Given the description of an element on the screen output the (x, y) to click on. 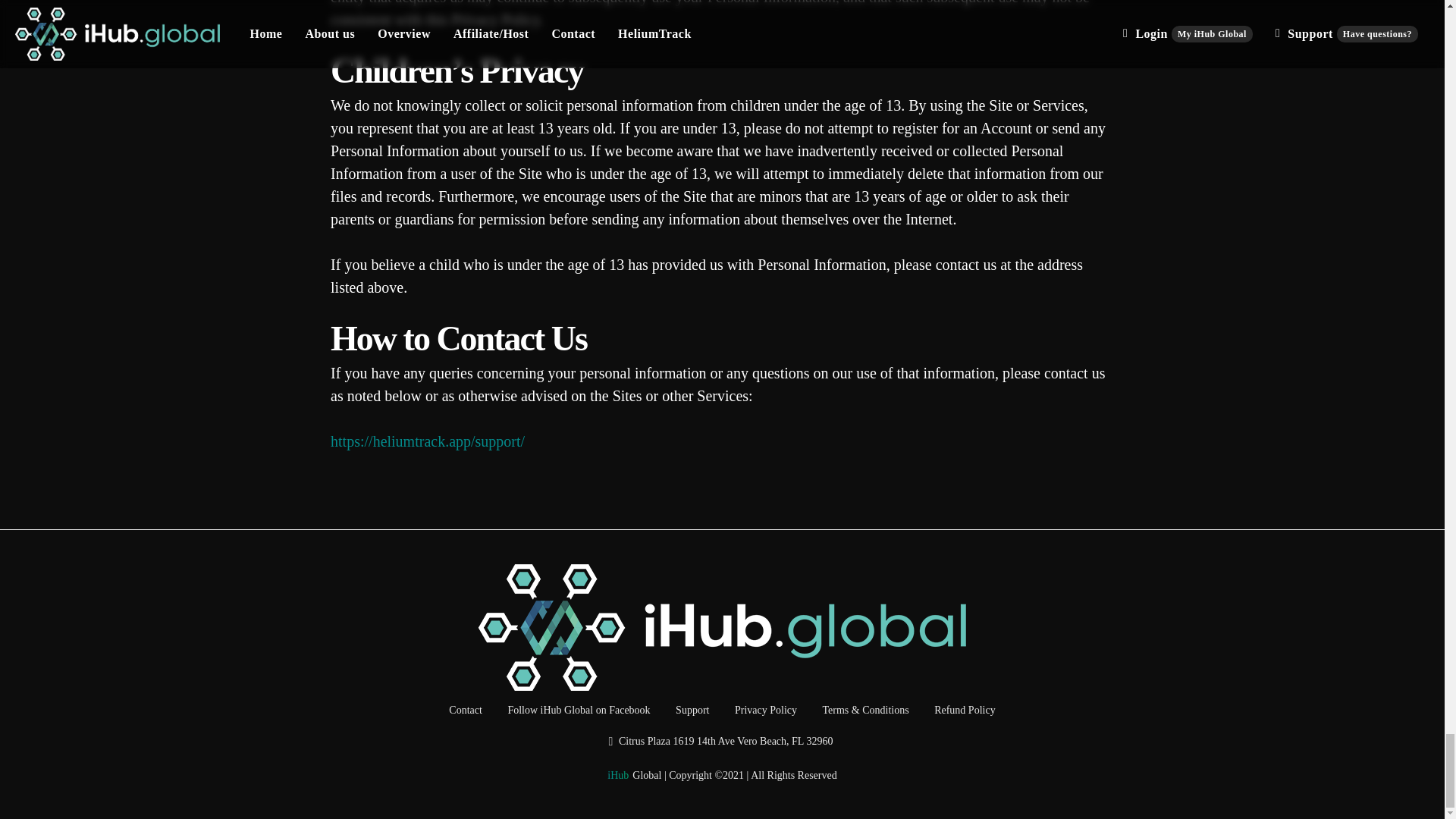
Privacy Policy (765, 710)
Contact (464, 710)
Support (692, 710)
Follow iHub Global on Facebook (577, 710)
Refund Policy (964, 710)
